Given the description of an element on the screen output the (x, y) to click on. 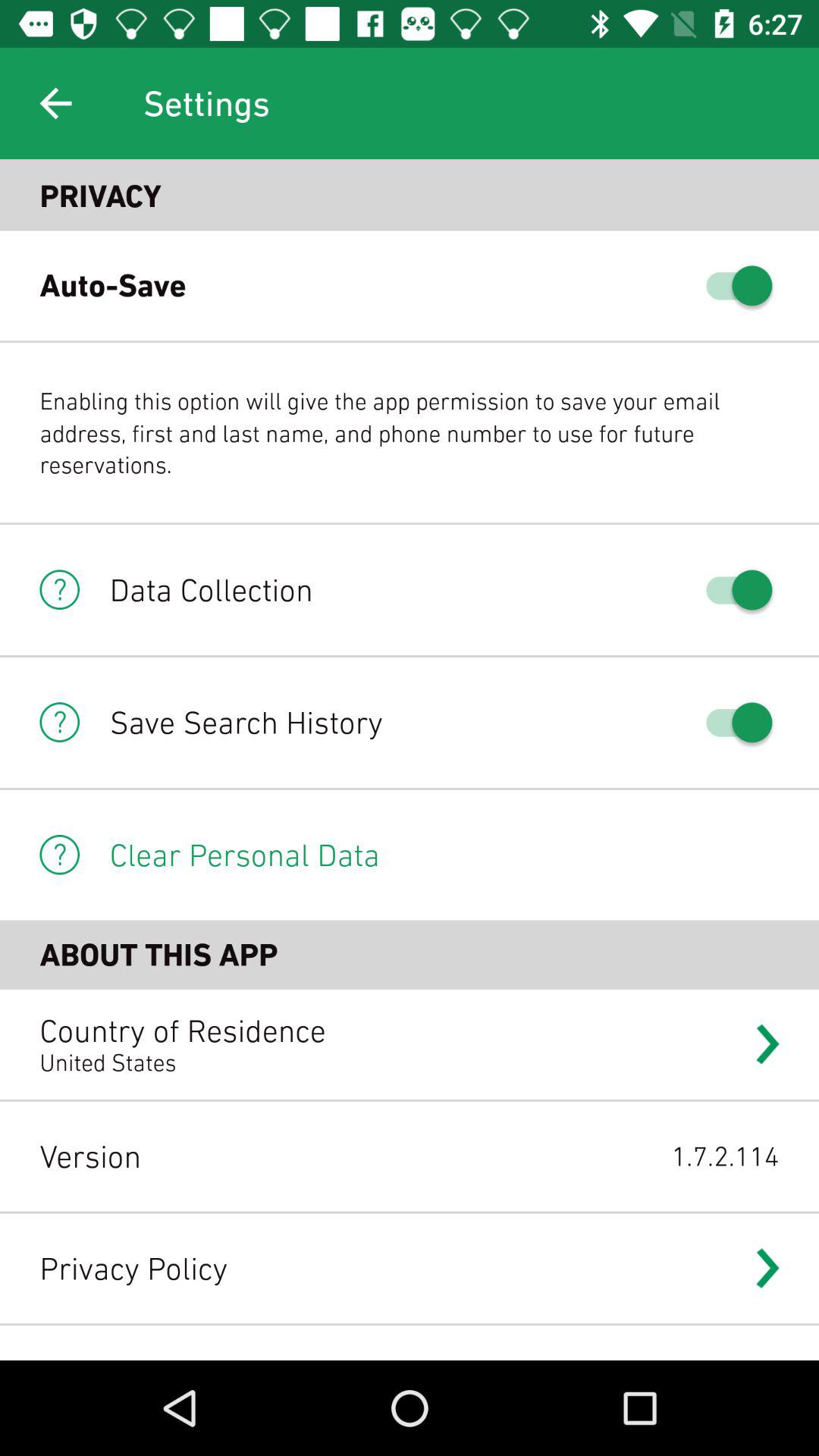
open item to the left of the settings icon (55, 103)
